Given the description of an element on the screen output the (x, y) to click on. 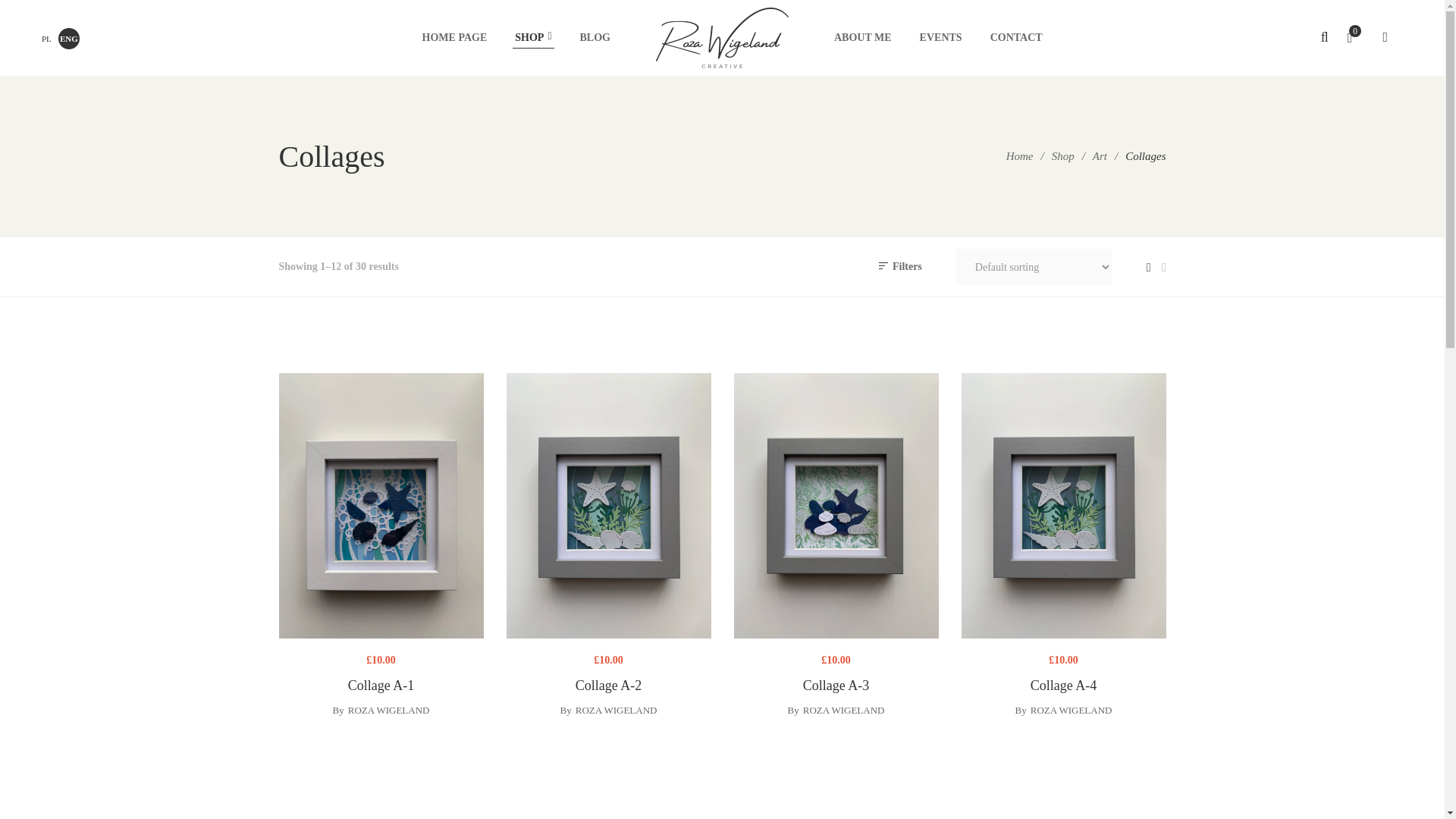
BLOG (594, 37)
Art (1099, 155)
ENG (69, 37)
Home (1019, 155)
CONTACT (1016, 37)
EVENTS (941, 37)
ABOUT ME (862, 37)
Collage A-3 (836, 505)
0 (1356, 38)
SHOP (533, 37)
PL (46, 37)
Collage A-2 (608, 505)
HOME PAGE (454, 37)
Collage A-1 (381, 505)
Shop (1062, 155)
